Given the description of an element on the screen output the (x, y) to click on. 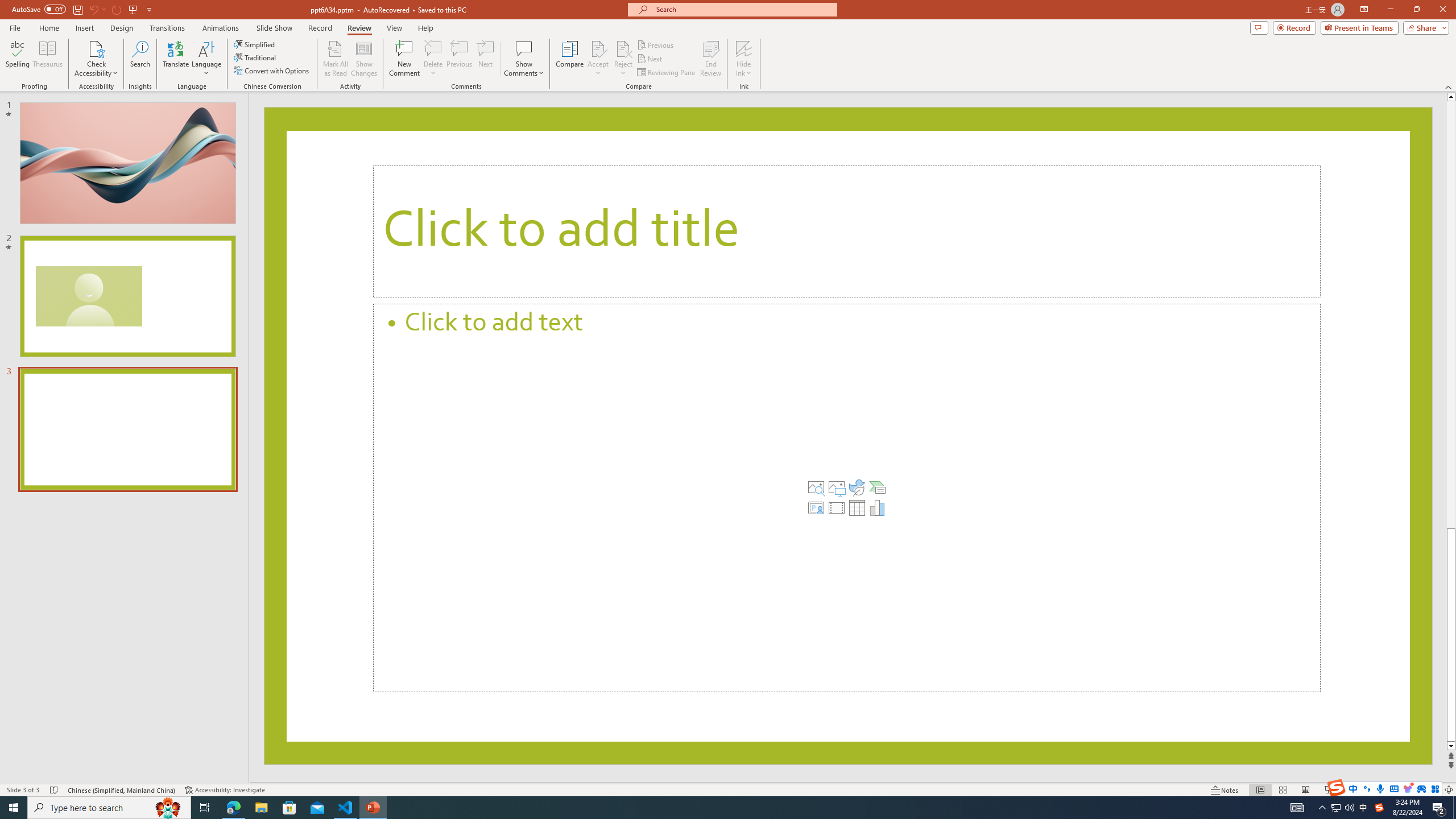
Zoom 161% (1430, 790)
Show Comments (524, 58)
Hide Ink (743, 48)
Show Comments (524, 48)
Mark All as Read (335, 58)
